Given the description of an element on the screen output the (x, y) to click on. 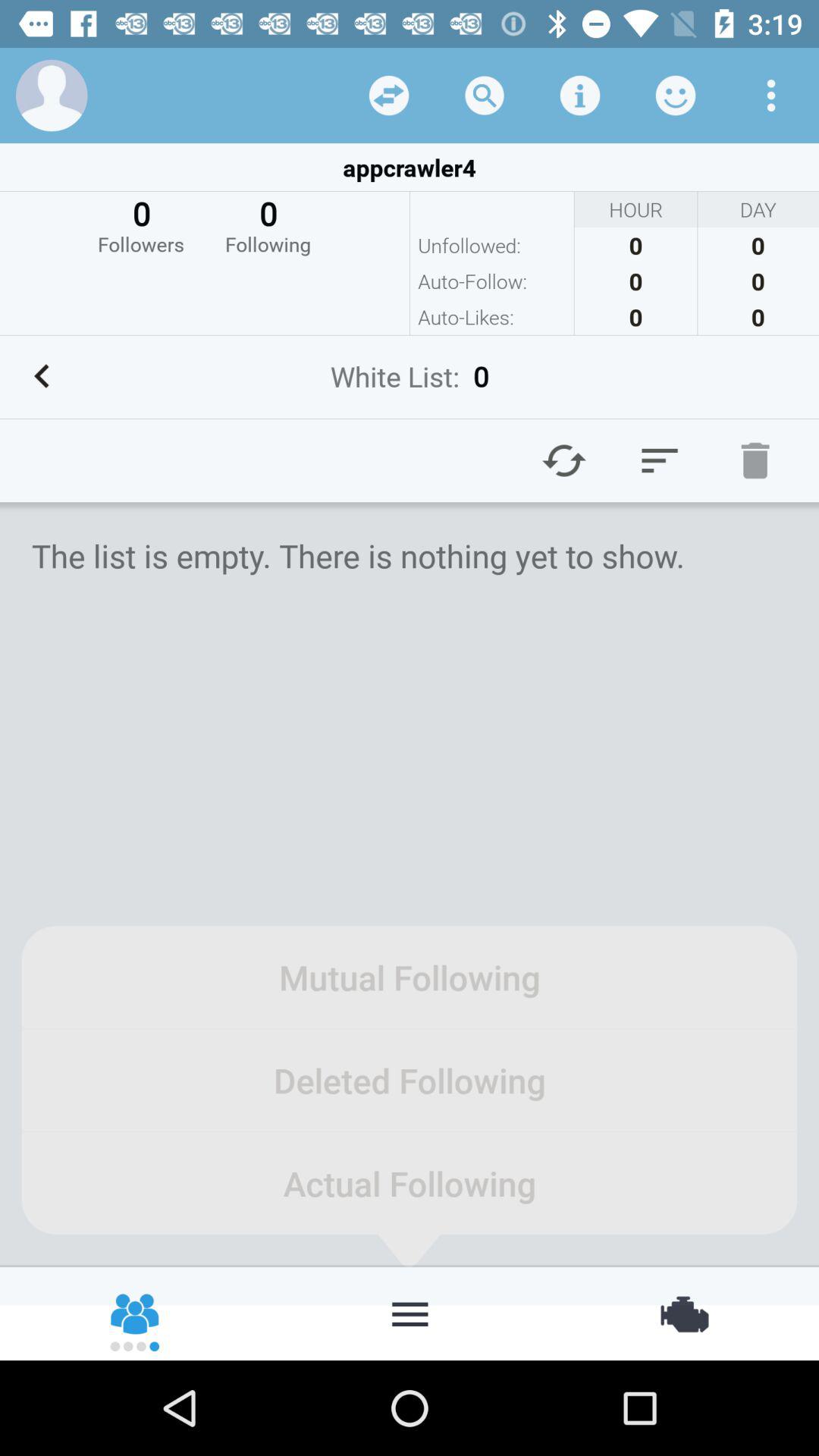
dada (388, 95)
